Given the description of an element on the screen output the (x, y) to click on. 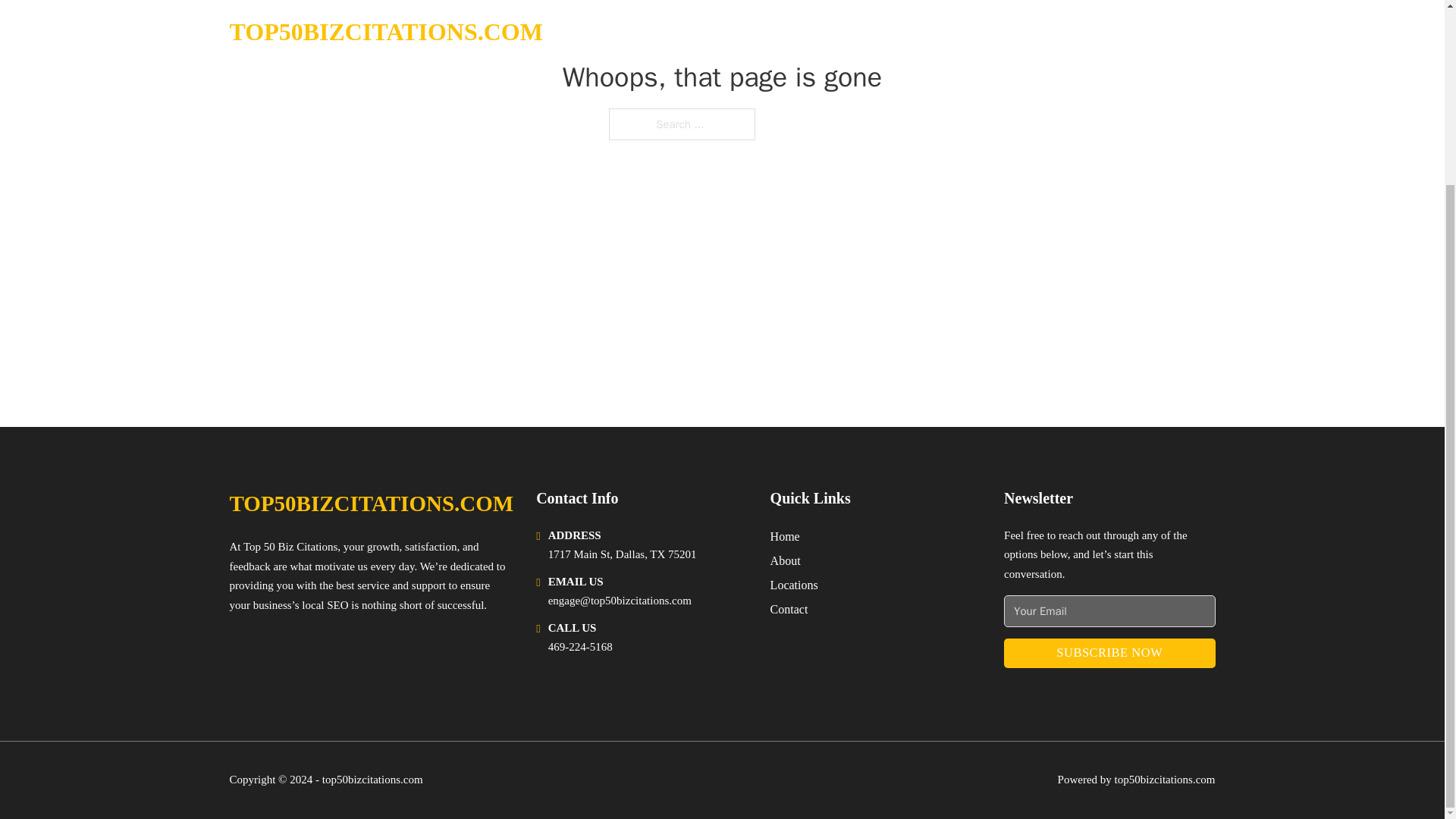
Home (784, 536)
SUBSCRIBE NOW (1109, 653)
Contact (789, 608)
469-224-5168 (580, 646)
Locations (794, 584)
TOP50BIZCITATIONS.COM (370, 503)
About (785, 560)
